Given the description of an element on the screen output the (x, y) to click on. 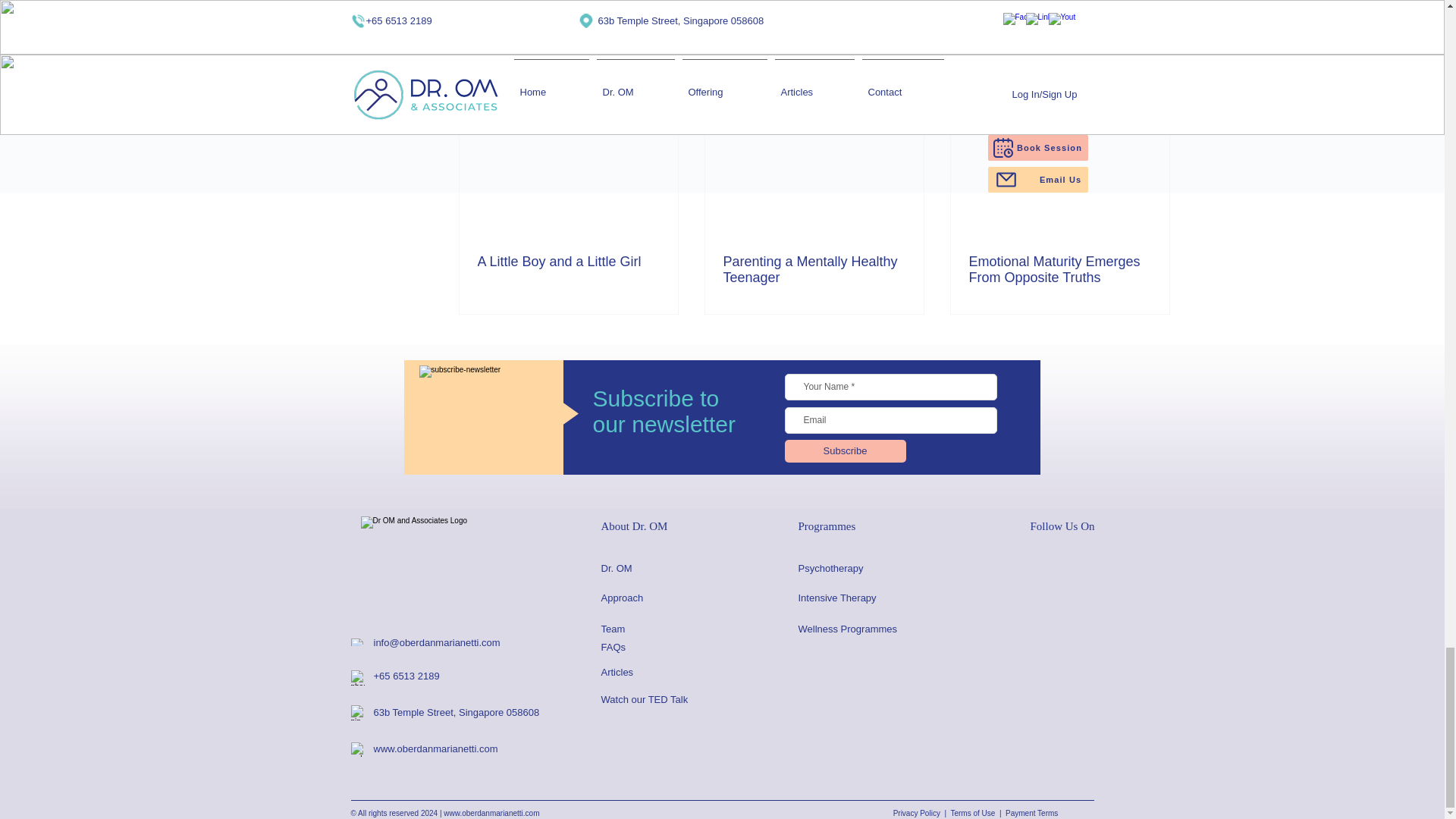
See All (1155, 86)
Parenting a Mentally Healthy Teenager (814, 269)
A Little Boy and a Little Girl (568, 261)
